Given the description of an element on the screen output the (x, y) to click on. 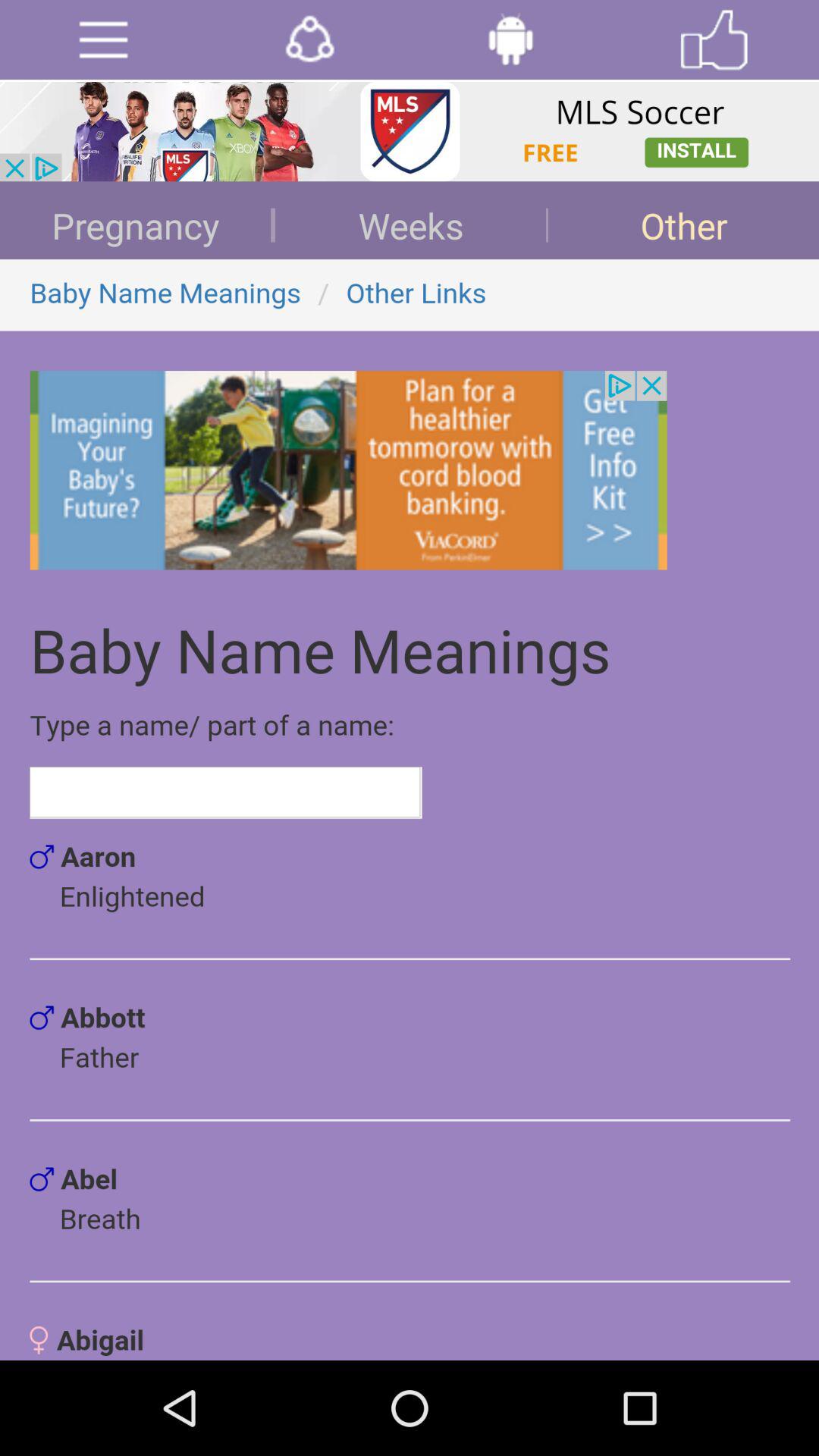
click to install mls soccer (409, 131)
